Given the description of an element on the screen output the (x, y) to click on. 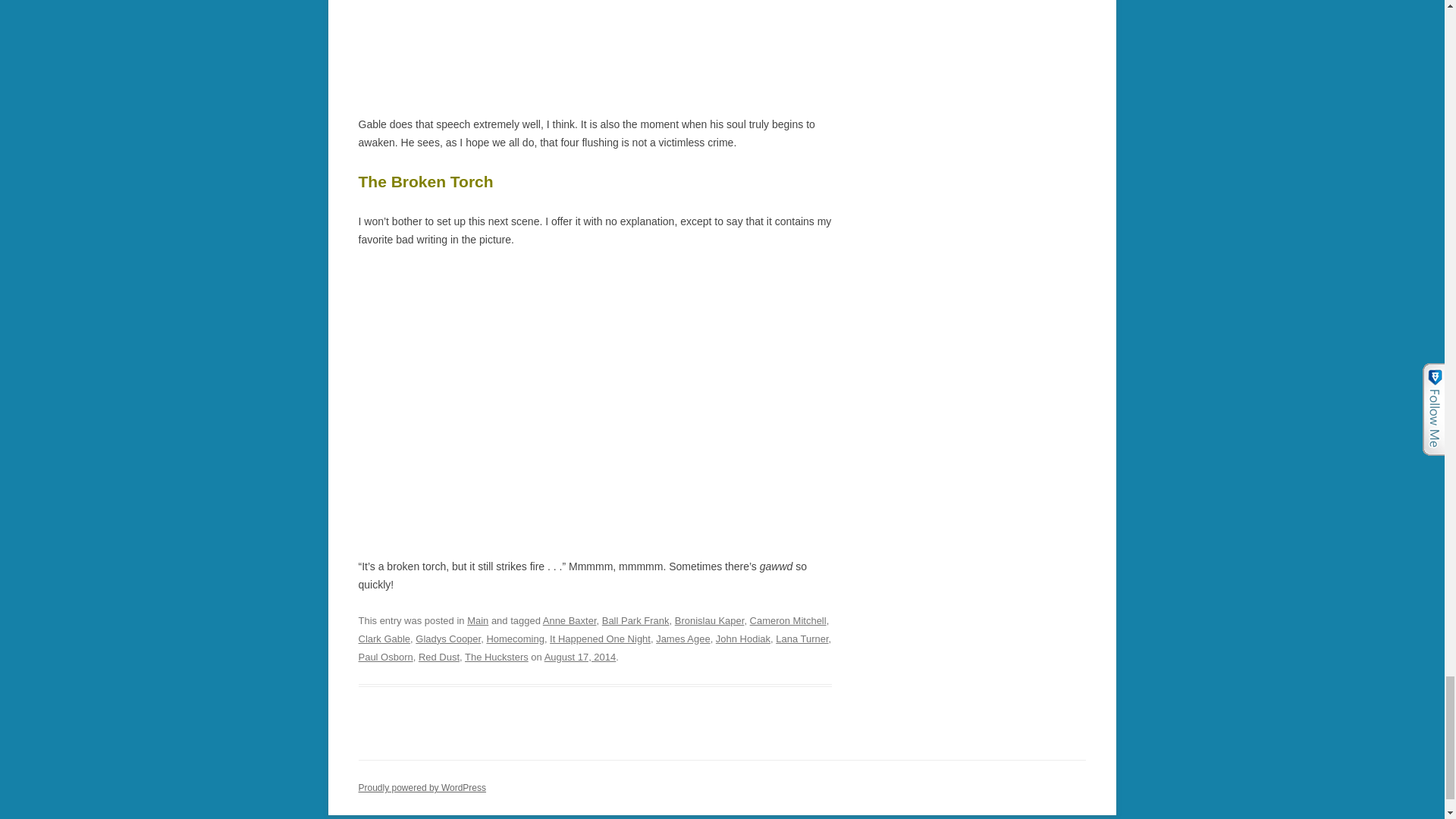
James Agee (683, 638)
Cameron Mitchell (788, 620)
10:28 am (579, 655)
Semantic Personal Publishing Platform (422, 787)
Main (477, 620)
Paul Osborn (385, 655)
It Happened One Night (600, 638)
Anne Baxter (569, 620)
Bronislau Kaper (709, 620)
Gladys Cooper (447, 638)
